Given the description of an element on the screen output the (x, y) to click on. 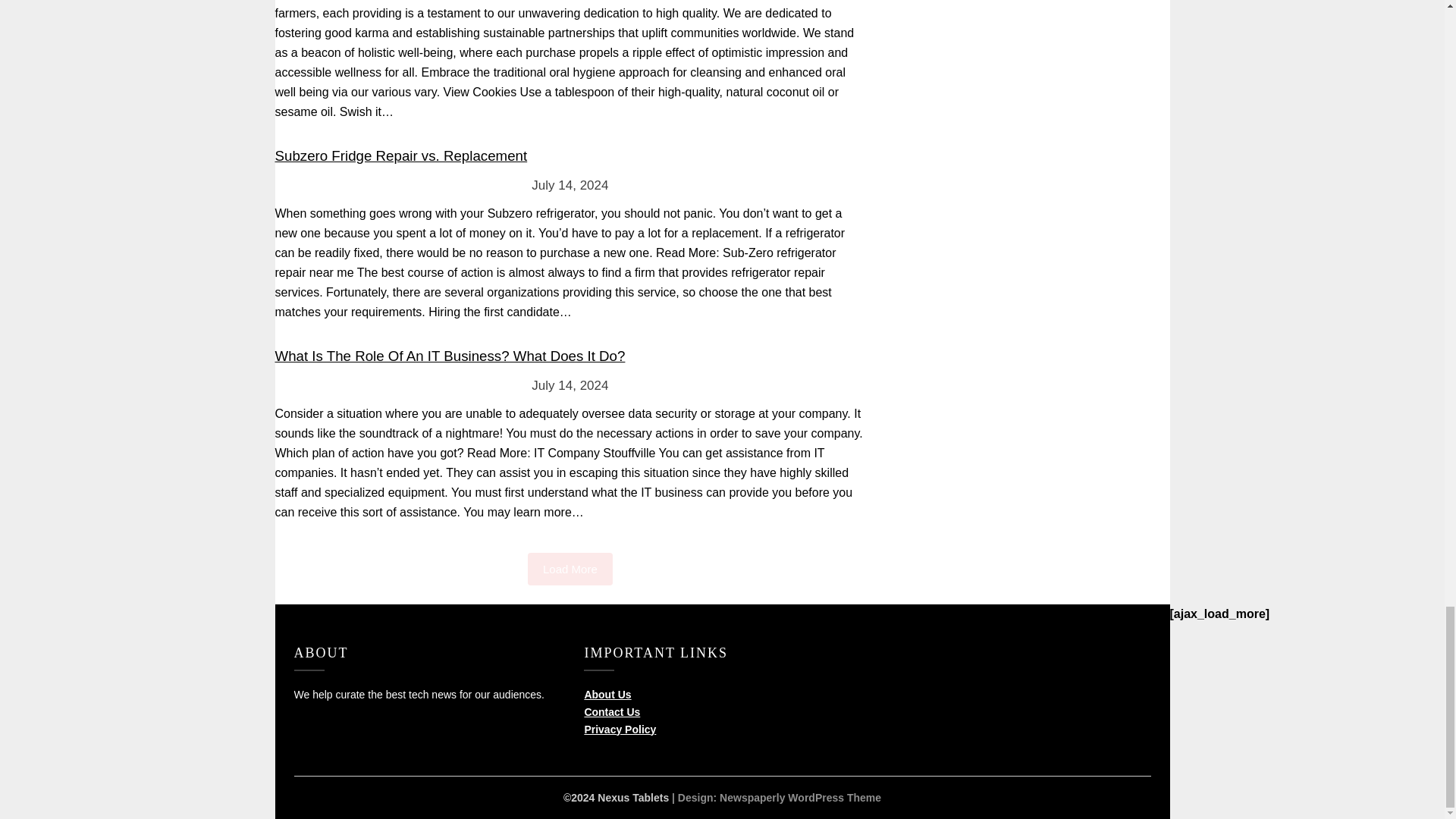
Load More (569, 568)
What Is The Role Of An IT Business? What Does It Do? (449, 355)
Subzero Fridge Repair vs. Replacement (401, 155)
About Us (606, 694)
Contact Us (611, 711)
